Given the description of an element on the screen output the (x, y) to click on. 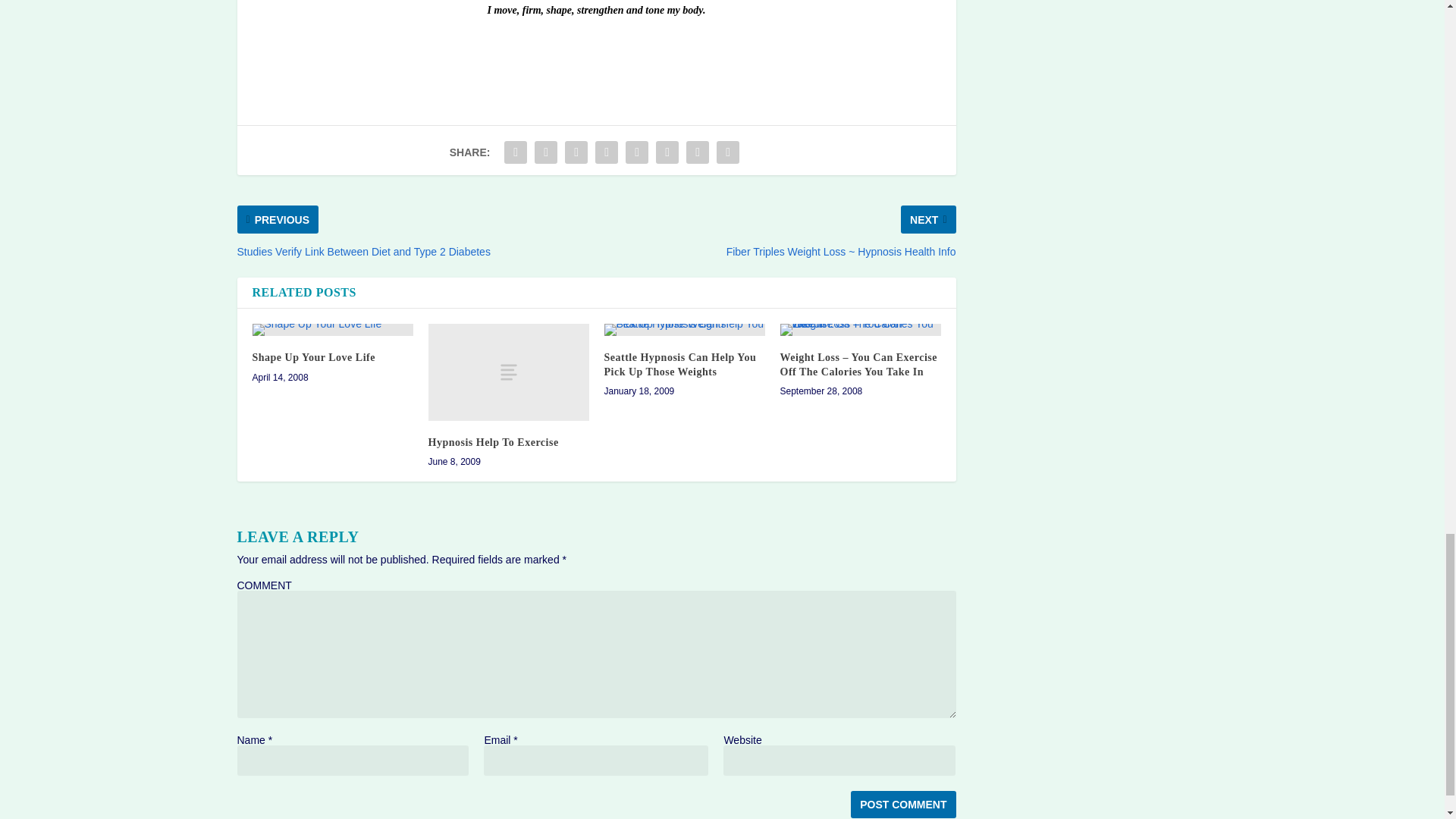
Post Comment (902, 804)
